Given the description of an element on the screen output the (x, y) to click on. 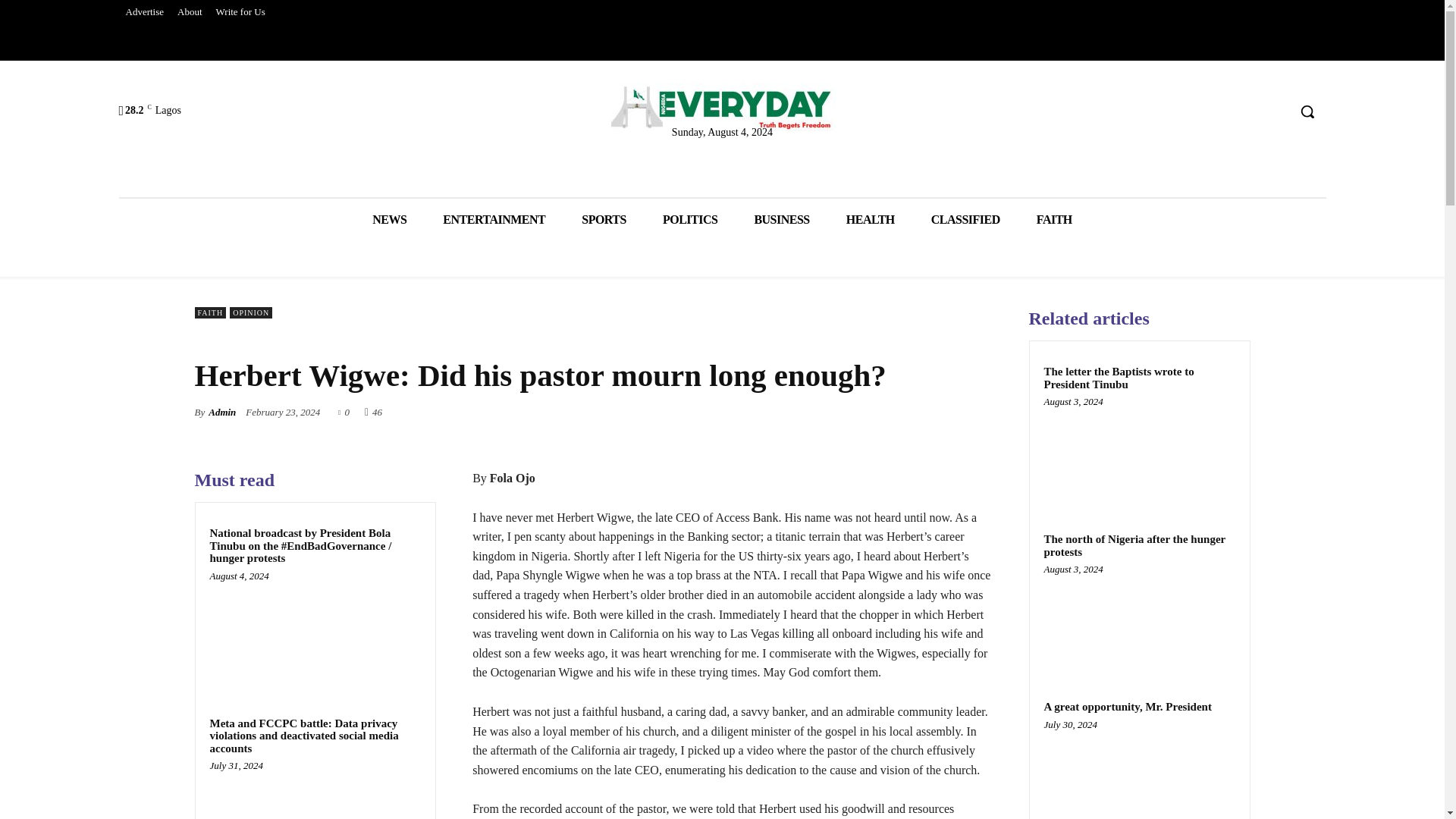
HEALTH (870, 219)
Admin (221, 412)
Write for Us (240, 12)
0 (343, 410)
POLITICS (690, 219)
BUSINESS (781, 219)
NEWS (389, 219)
About (189, 12)
OPINION (251, 312)
